Given the description of an element on the screen output the (x, y) to click on. 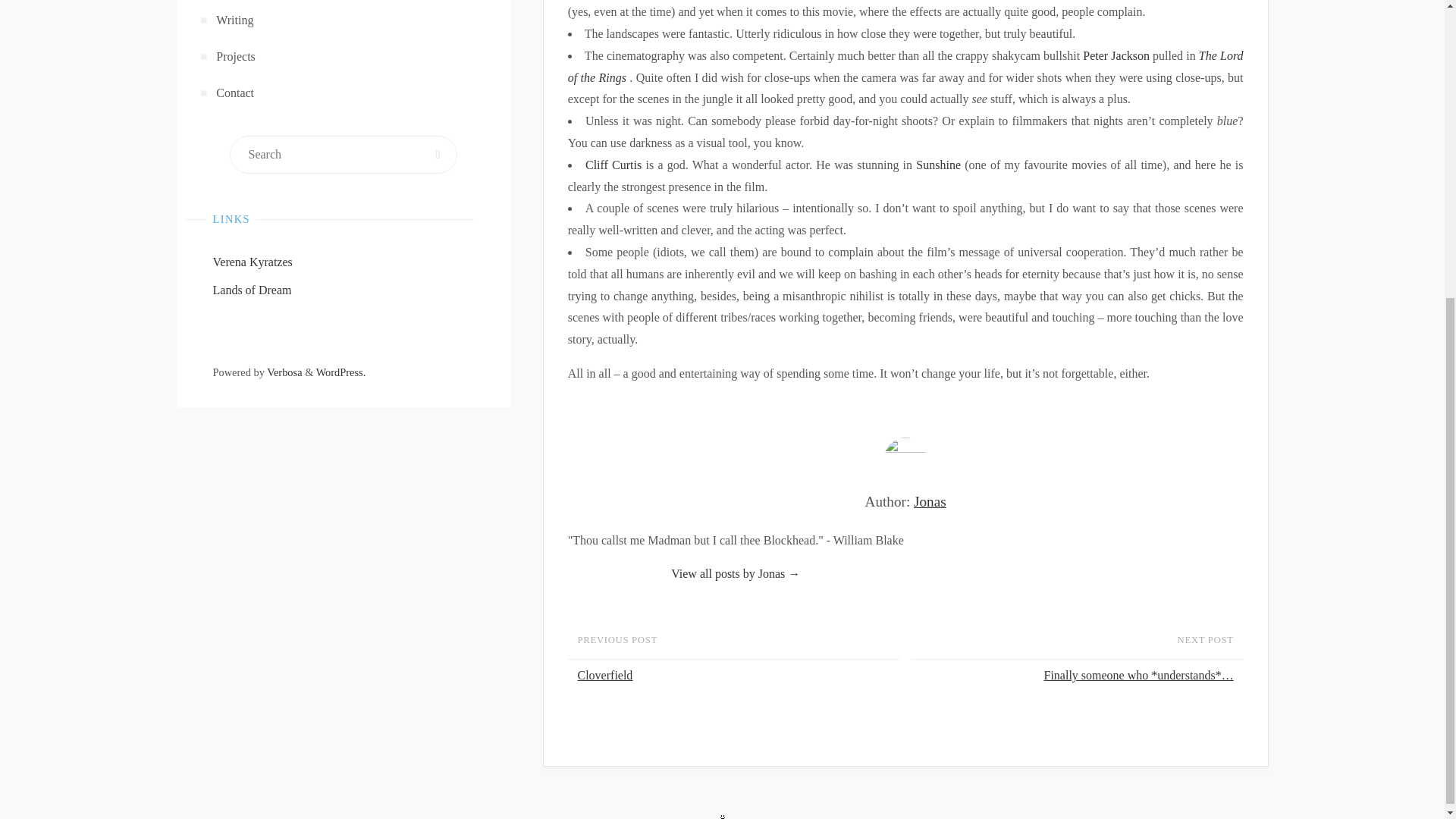
Cloverfield (736, 675)
Verbosa Theme by Cryout Creations (283, 372)
Peter Jackson (1116, 55)
Semantic Personal Publishing Platform (340, 372)
Lands of Dream (251, 289)
Contact (344, 93)
WordPress. (340, 372)
The Lord of the Rings (905, 66)
Projects (344, 56)
Writing (344, 20)
Cliff Curtis (613, 164)
Sunshine (937, 164)
Verbosa (283, 372)
Verena Kyratzes (252, 261)
